Given the description of an element on the screen output the (x, y) to click on. 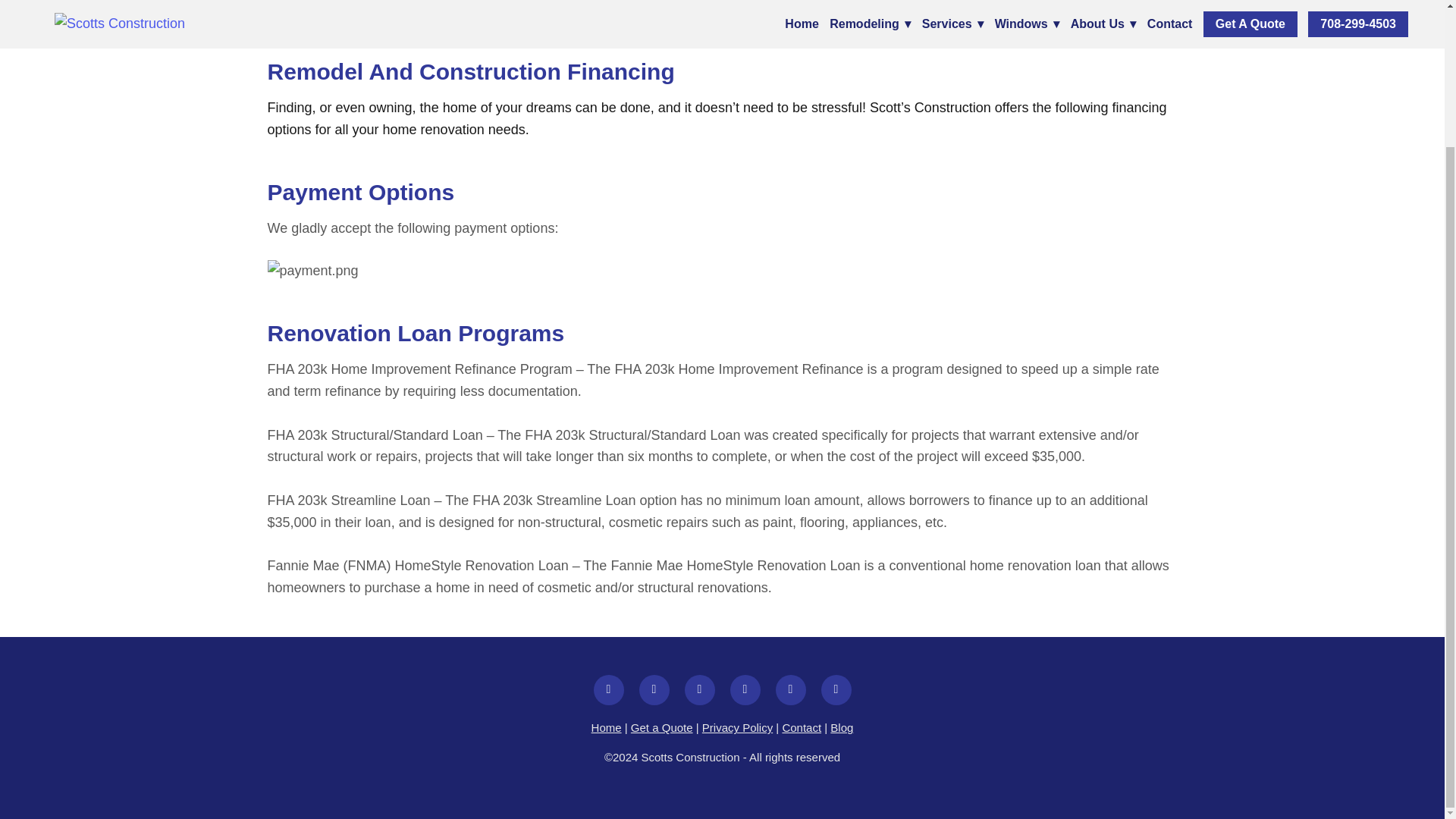
Privacy Policy (737, 727)
Home (606, 727)
Contact (801, 727)
Blog (841, 727)
Get a Quote (661, 727)
